Given the description of an element on the screen output the (x, y) to click on. 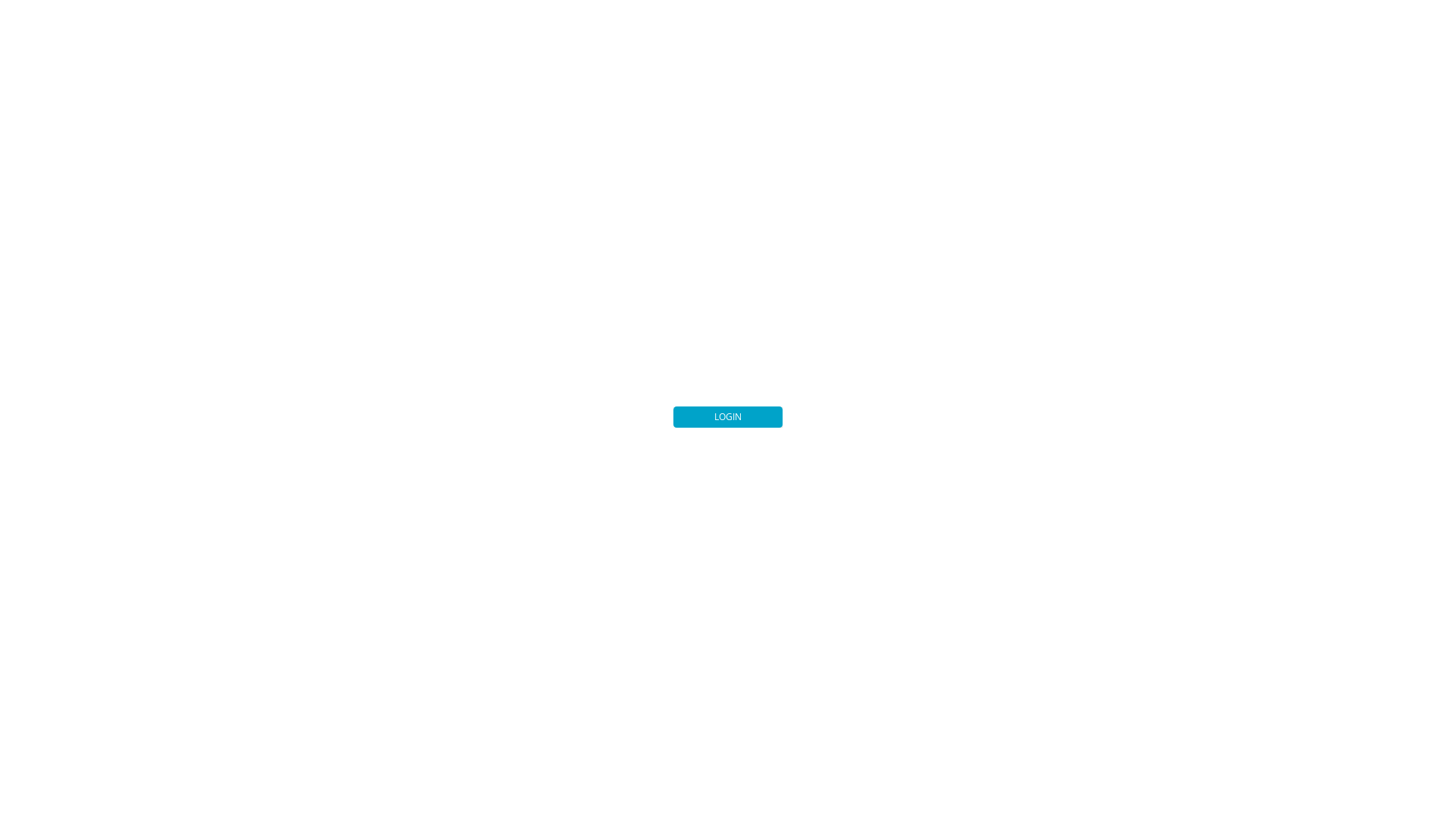
LOGIN Element type: text (727, 417)
